Given the description of an element on the screen output the (x, y) to click on. 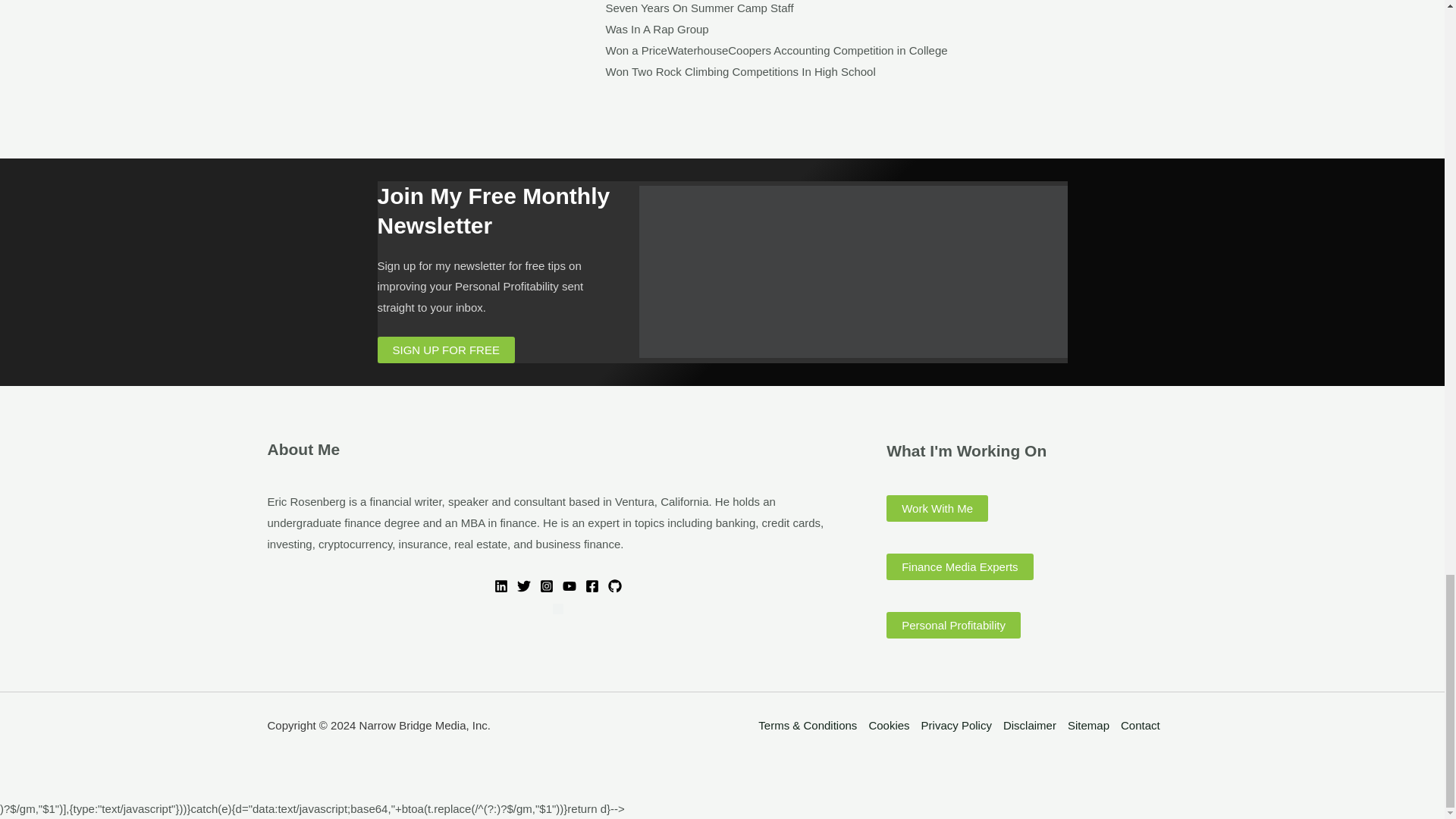
Finance Media Experts (959, 566)
SIGN UP FOR FREE (446, 349)
Cookies (889, 725)
Privacy Policy (956, 725)
Personal Profitability (953, 624)
Work With Me (937, 508)
Mastodon (558, 608)
